Given the description of an element on the screen output the (x, y) to click on. 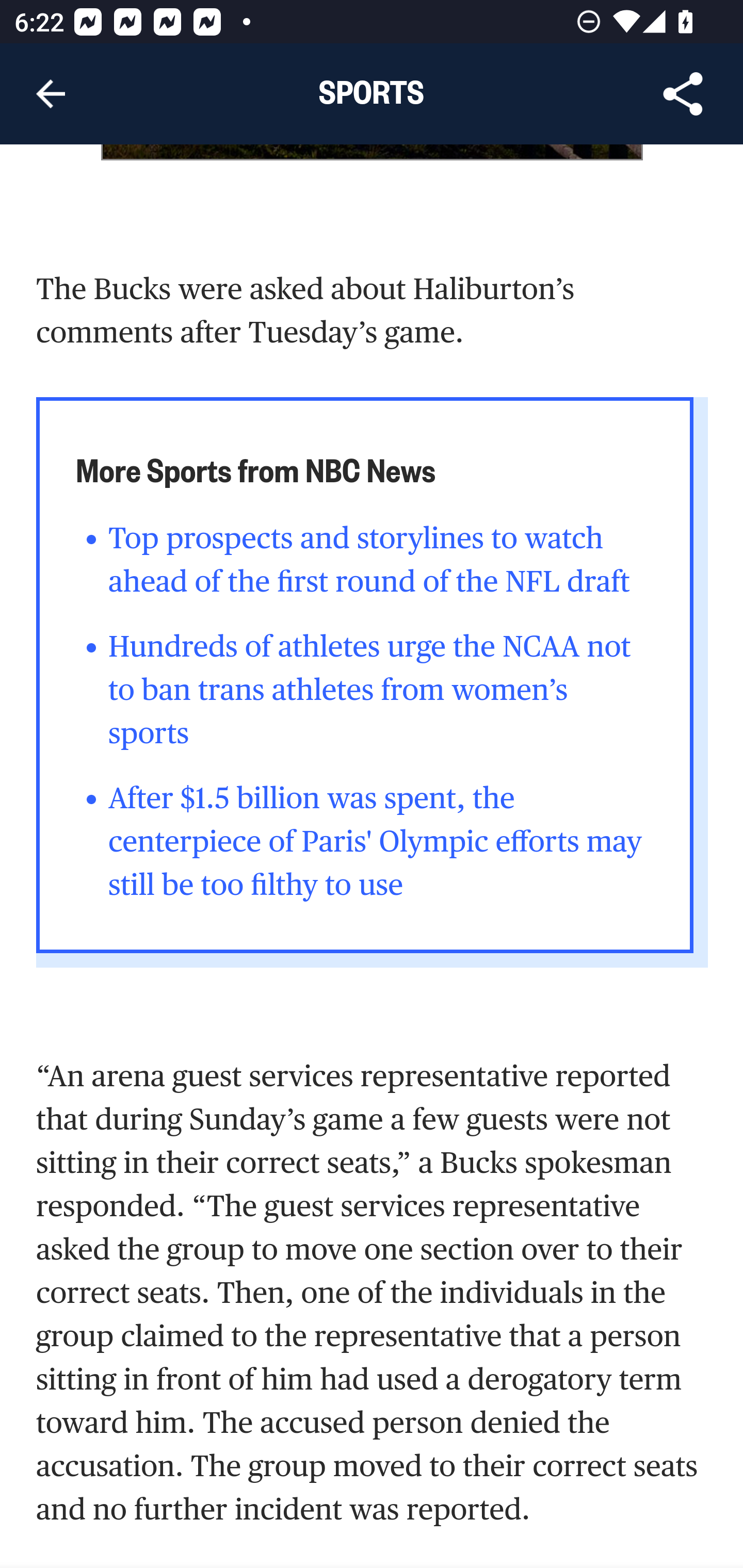
Navigate up (50, 93)
Share Article, button (683, 94)
